Given the description of an element on the screen output the (x, y) to click on. 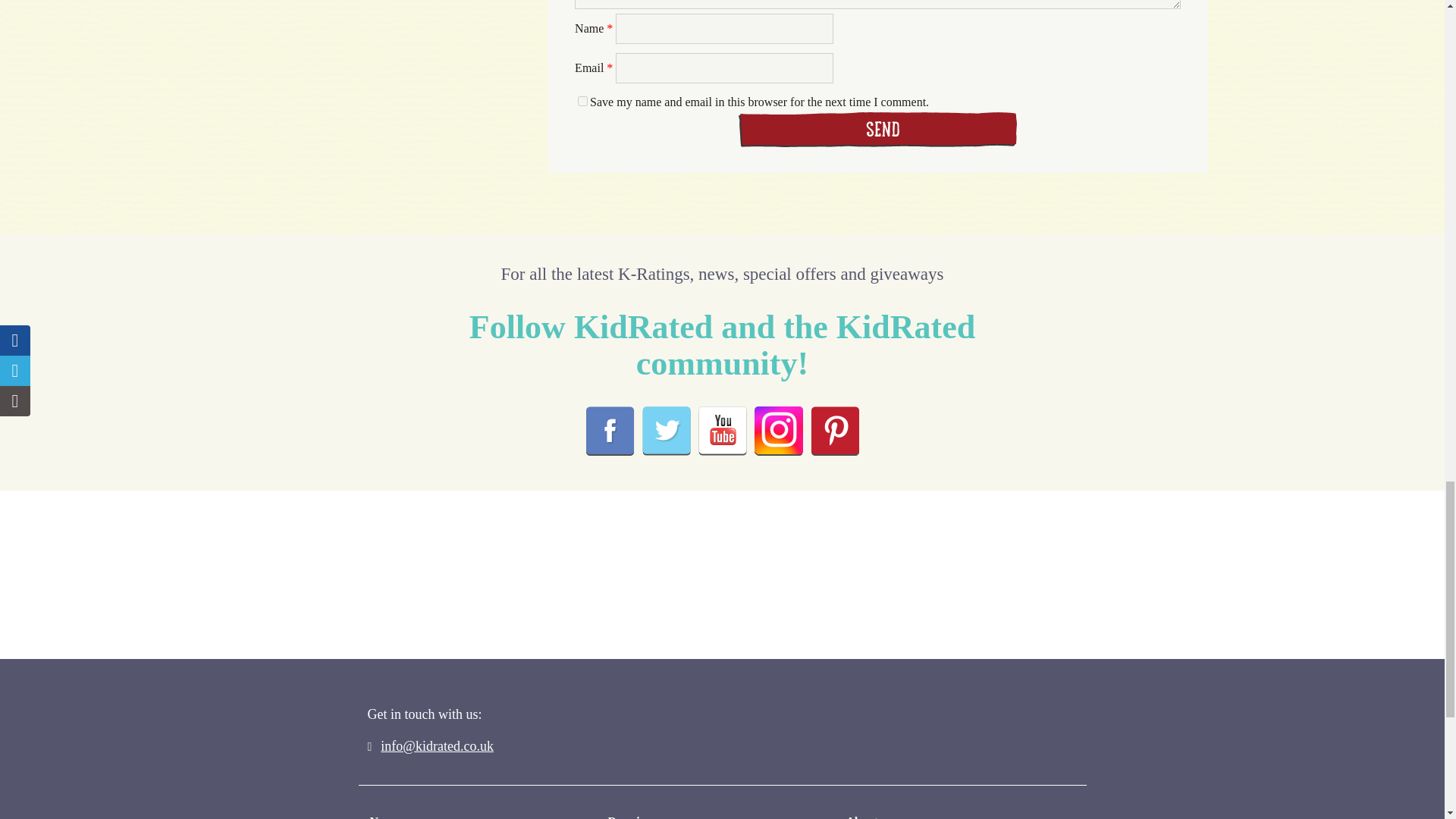
WAYRA (888, 580)
4 NEWS (730, 572)
Kidrated's Facebook (609, 430)
The Guardian (575, 598)
yes (583, 101)
Post Comment (877, 129)
Evening Standard (404, 591)
Kidrated's Youtube Channel (721, 430)
Kidrated's Twitter (666, 430)
Kidrated's Pinterest (834, 430)
